Given the description of an element on the screen output the (x, y) to click on. 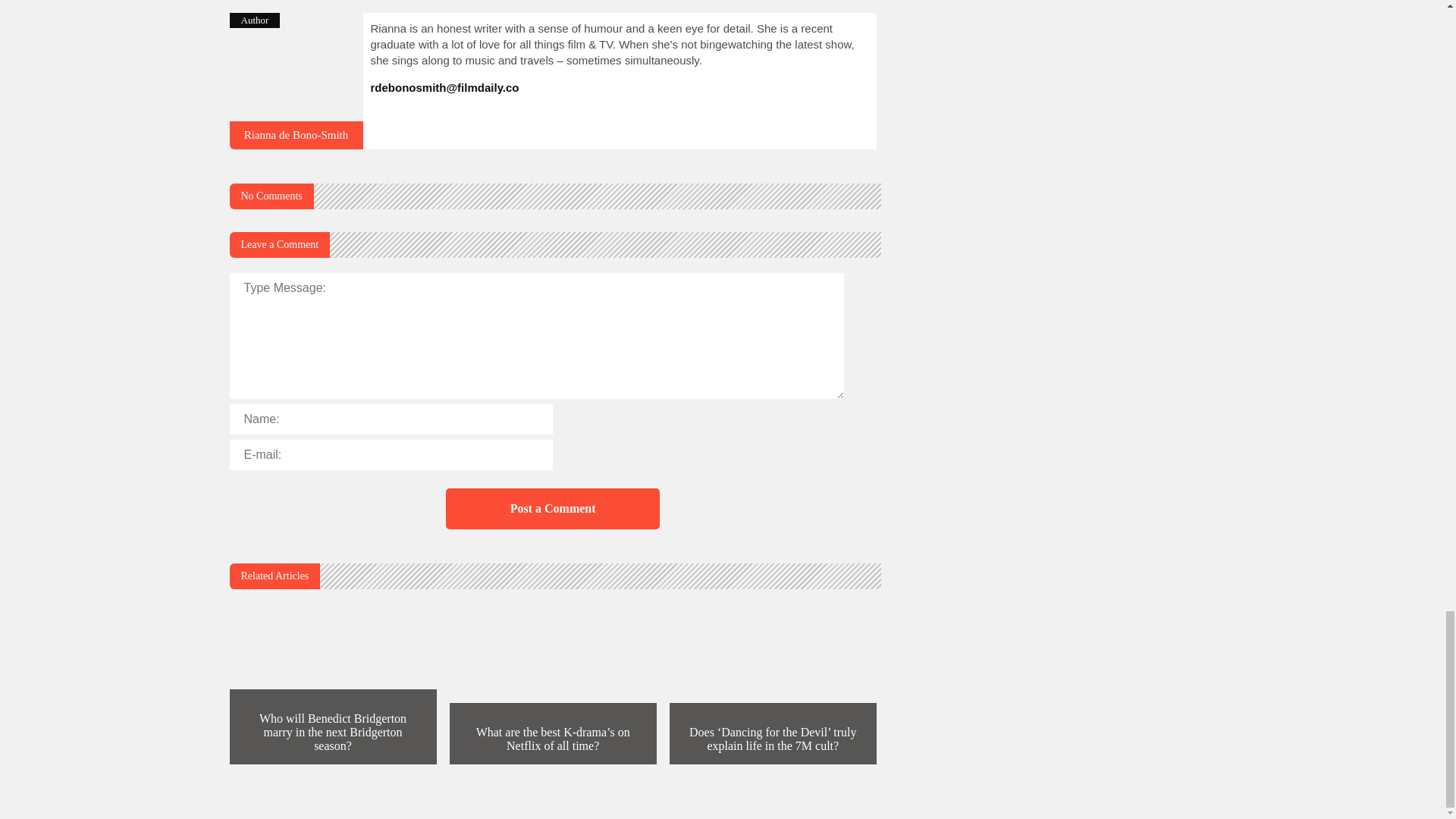
Post a Comment (552, 508)
